Given the description of an element on the screen output the (x, y) to click on. 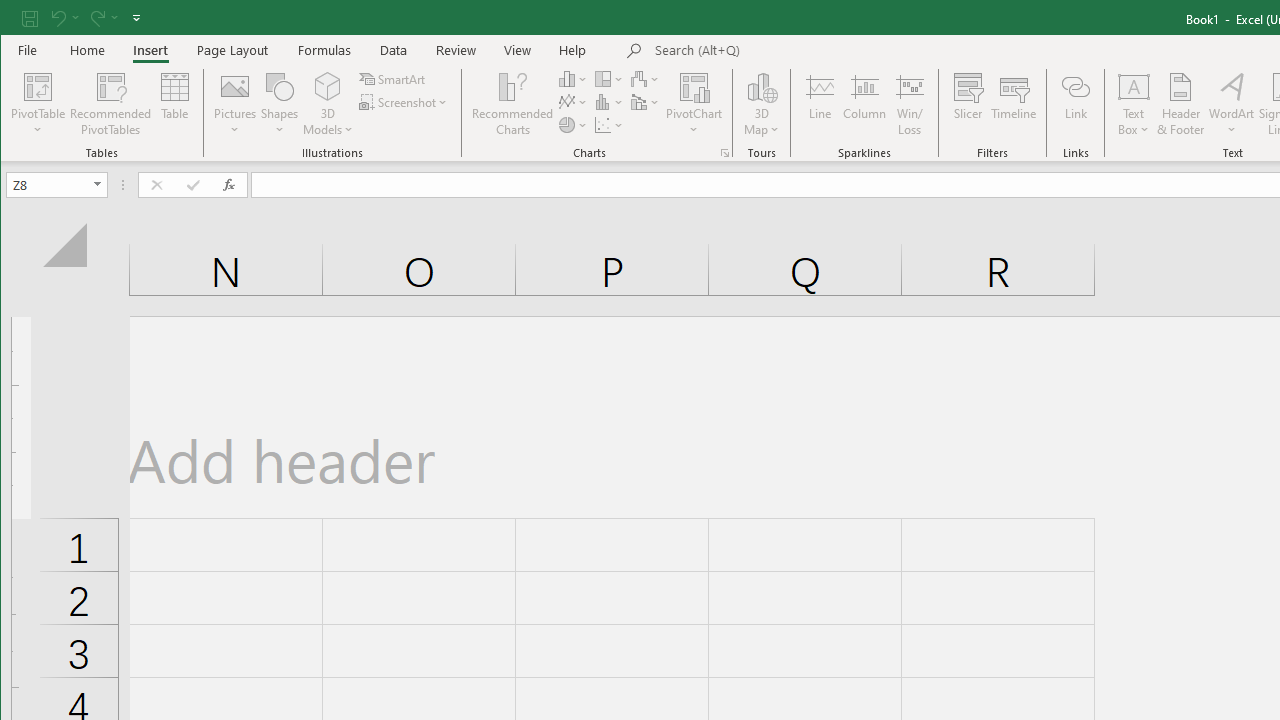
Header & Footer... (1180, 104)
SmartArt... (393, 78)
Insert Line or Area Chart (573, 101)
Undo (63, 17)
Recommended Charts (724, 152)
PivotChart (694, 86)
3D Models (327, 104)
3D Map (762, 104)
PivotTable (37, 104)
Home (87, 50)
Insert Combo Chart (646, 101)
Open (98, 184)
Help (573, 50)
Quick Access Toolbar (83, 17)
Screenshot (404, 101)
